Given the description of an element on the screen output the (x, y) to click on. 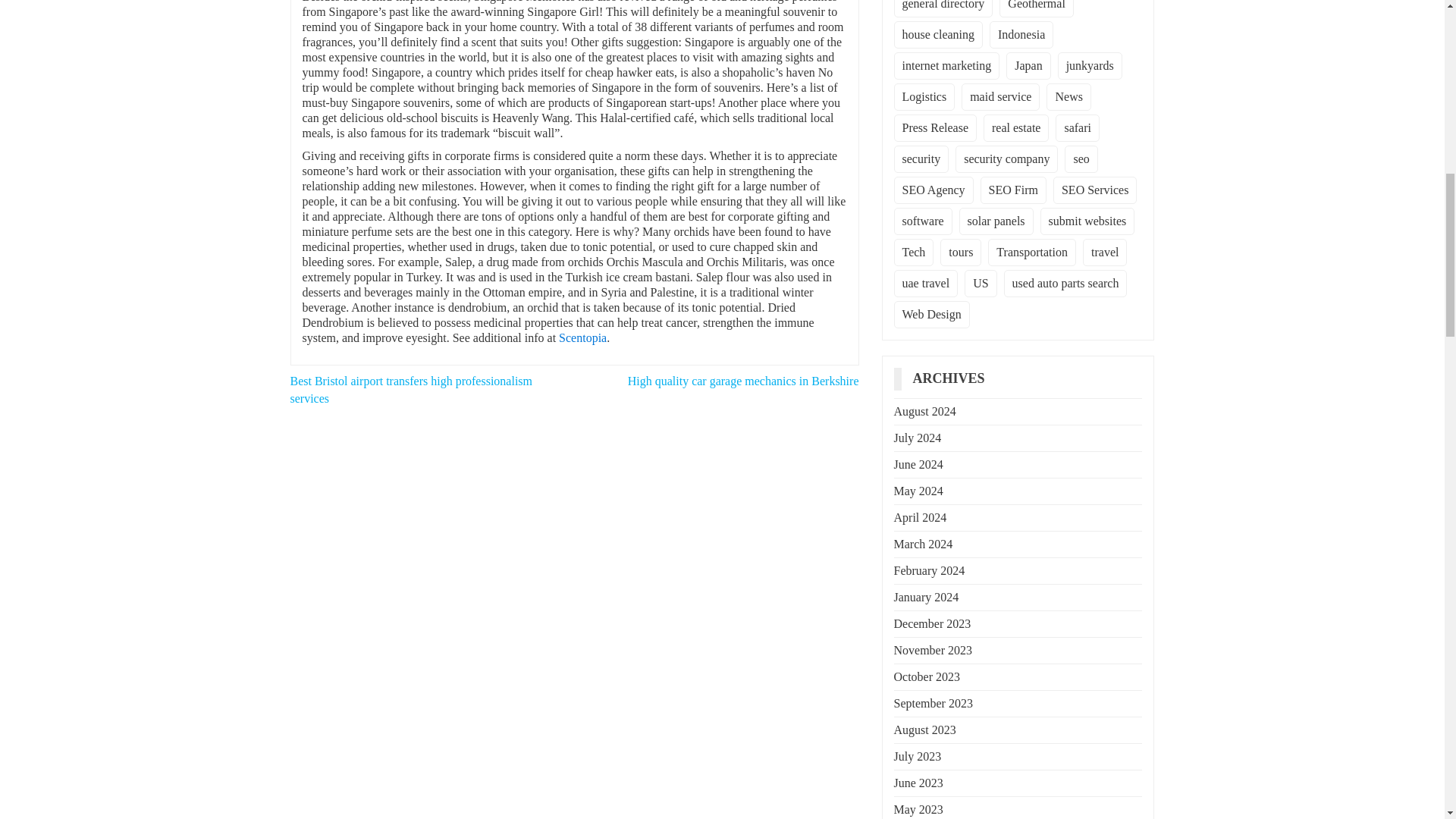
Best Bristol airport transfers high professionalism services (410, 389)
High quality car garage mechanics in Berkshire (743, 380)
Scentopia (583, 337)
